Given the description of an element on the screen output the (x, y) to click on. 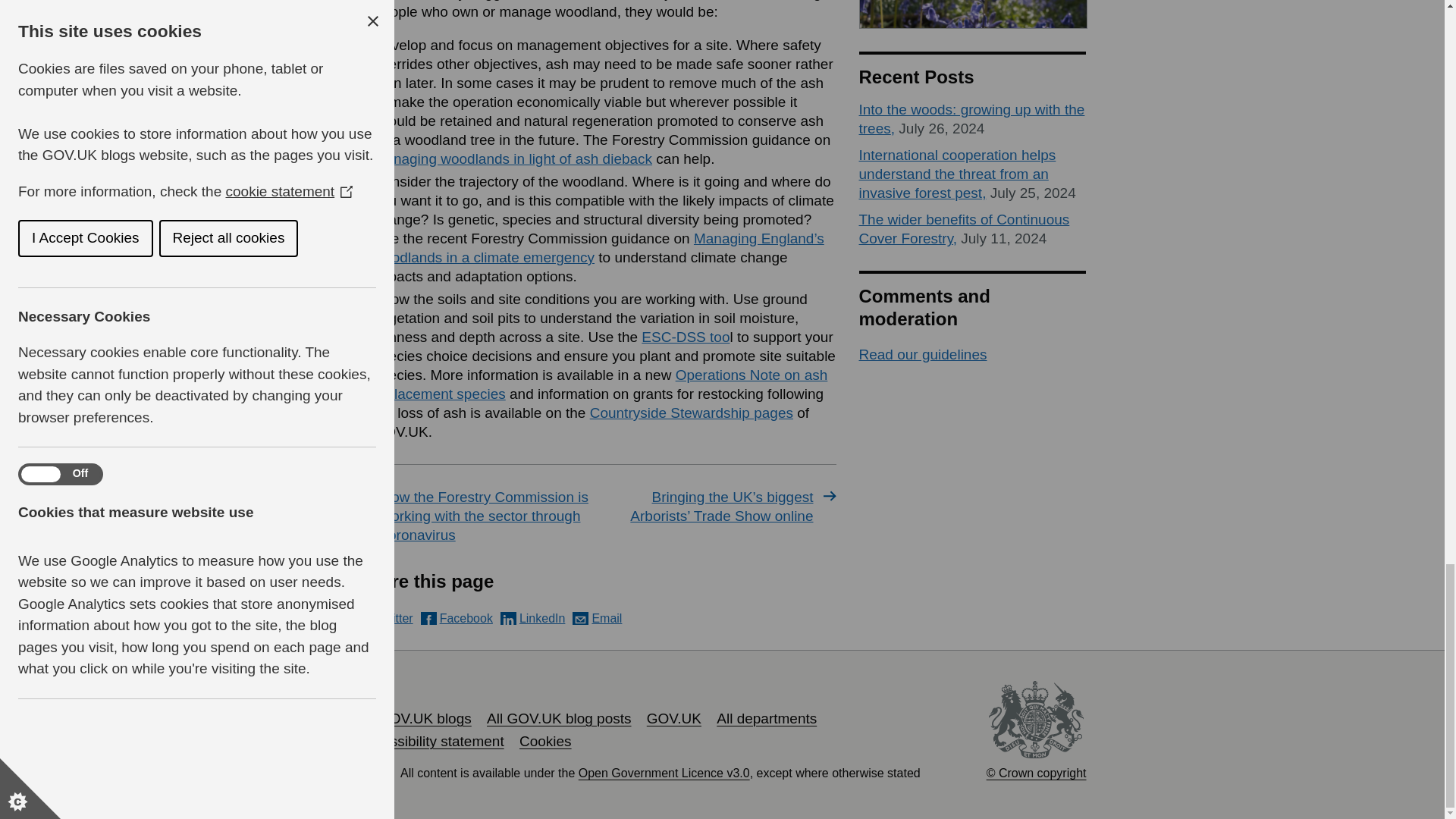
Facebook (456, 617)
LinkedIn (533, 617)
Twitter (385, 617)
Managing woodlands in light of ash dieback (512, 158)
Countryside Stewardship pages (691, 412)
Into the woods: growing up with the trees (971, 118)
ESC-DSS too (685, 336)
Email (596, 617)
Operations Note on ash replacement species (599, 384)
